Given the description of an element on the screen output the (x, y) to click on. 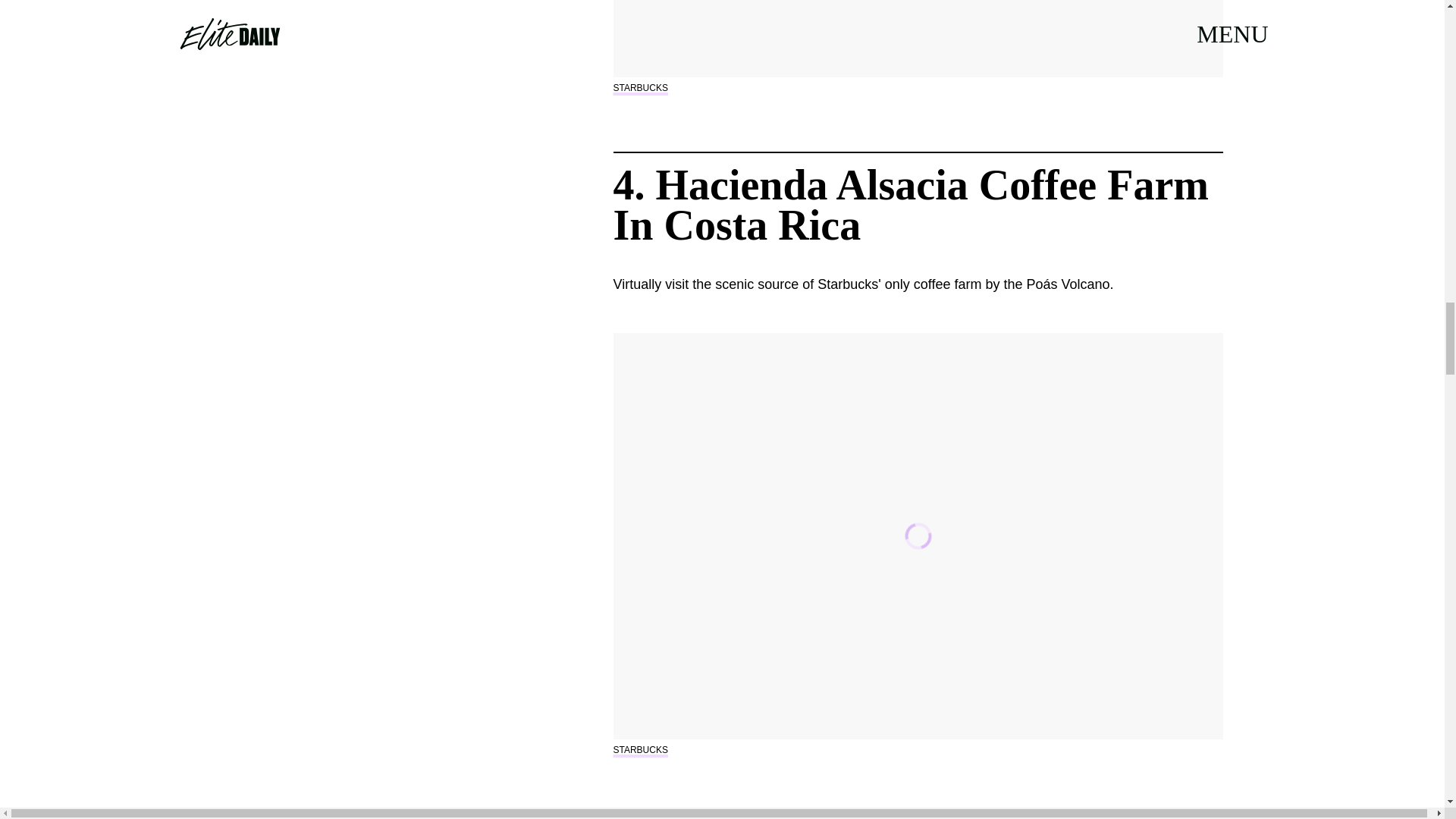
STARBUCKS (639, 749)
STARBUCKS (639, 87)
